Given the description of an element on the screen output the (x, y) to click on. 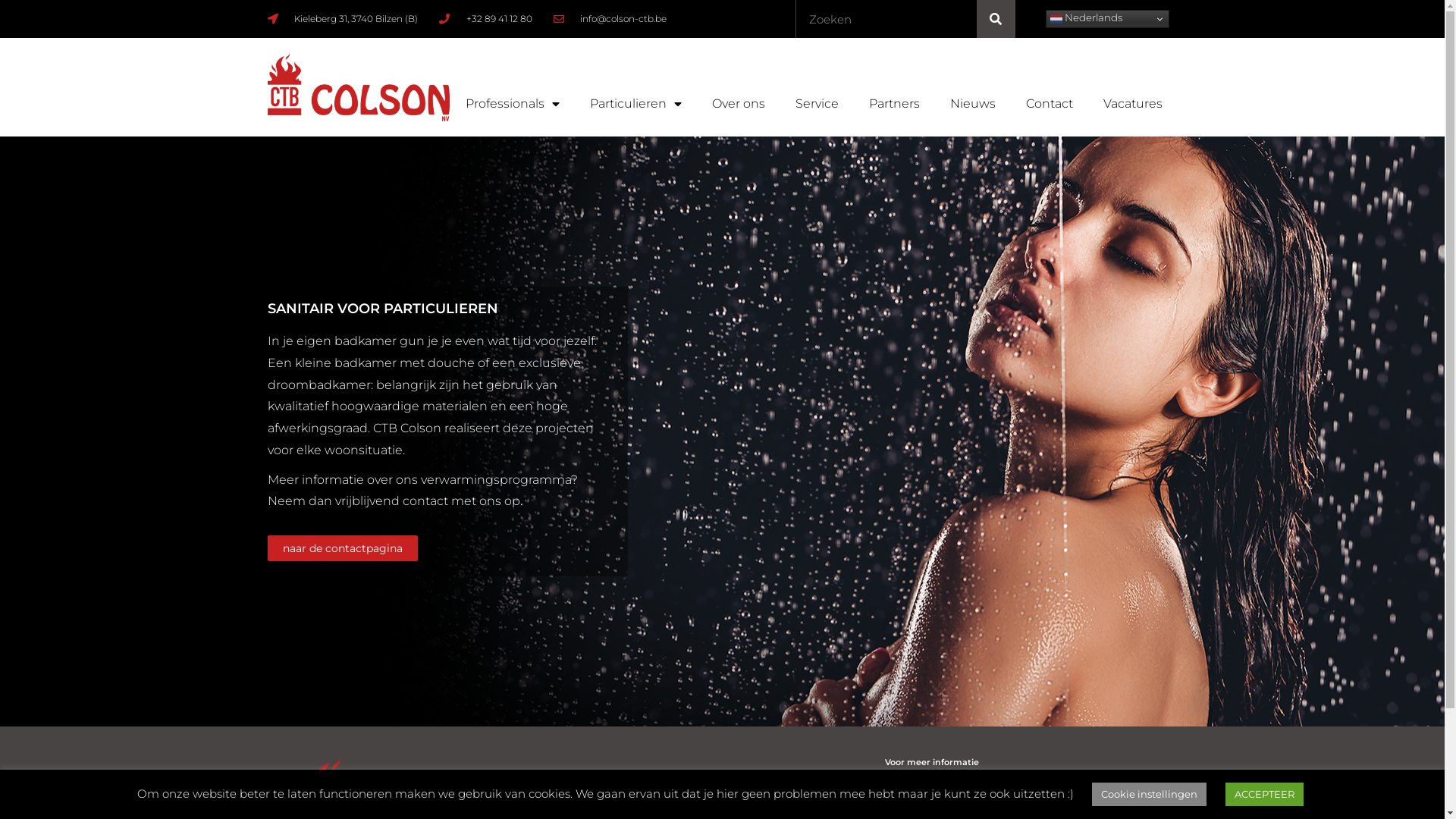
Contact Element type: text (1048, 103)
Nieuws Element type: text (972, 103)
ACCEPTEER Element type: text (1264, 794)
Cookie instellingen Element type: text (1149, 794)
Partners Element type: text (894, 103)
info@colson-ctb.be Element type: text (610, 18)
Nederlands Element type: text (1107, 18)
Over ons Element type: text (737, 103)
Vacatures Element type: text (1131, 103)
Particulieren Element type: text (635, 103)
Service Element type: text (816, 103)
naar de contactpagina Element type: text (341, 548)
Professionals Element type: text (512, 103)
+32 89 41 12 80 Element type: text (485, 18)
